Given the description of an element on the screen output the (x, y) to click on. 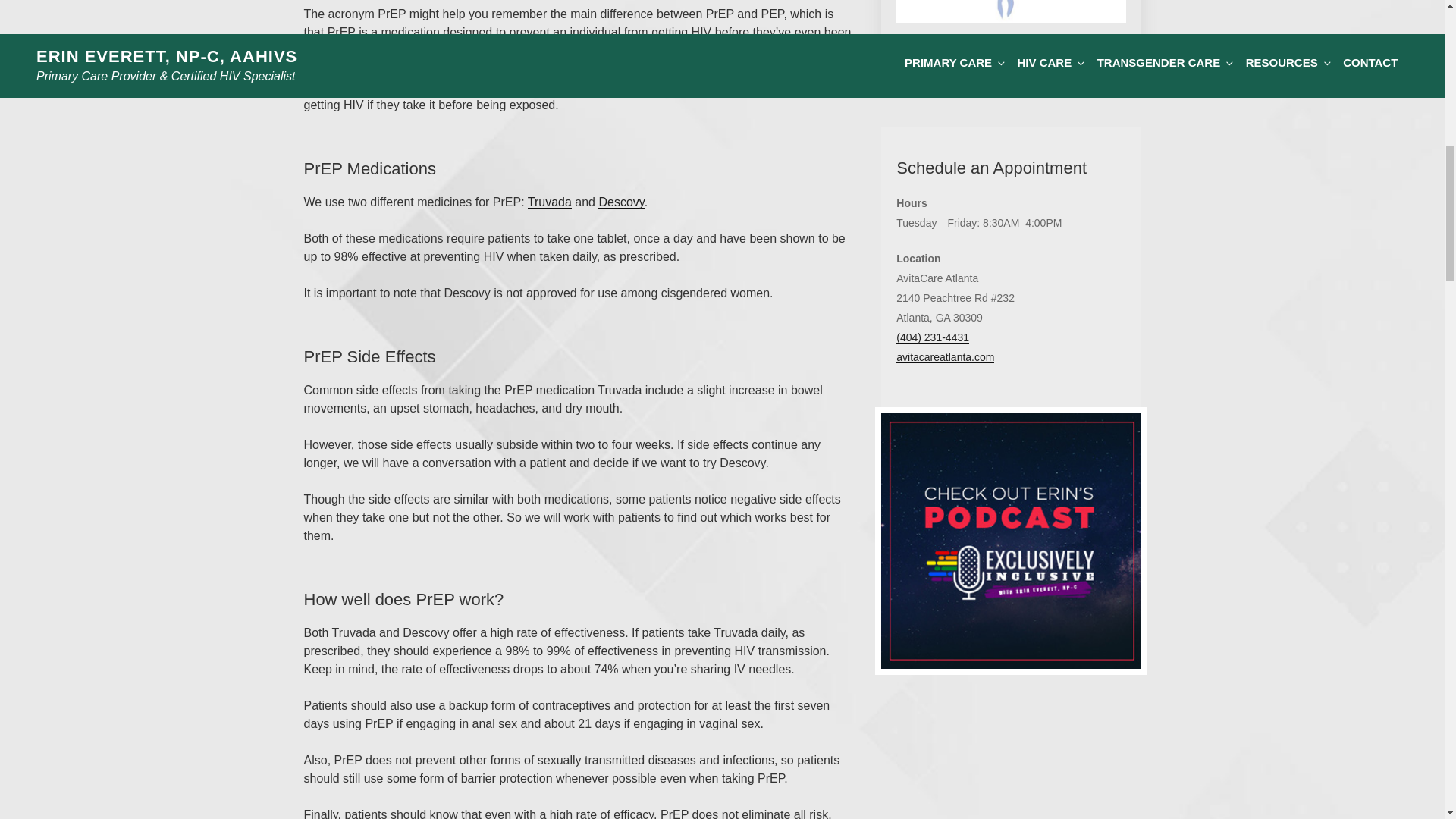
Truvada (549, 201)
avitacareatlanta.com (945, 357)
Descovy (620, 201)
